Given the description of an element on the screen output the (x, y) to click on. 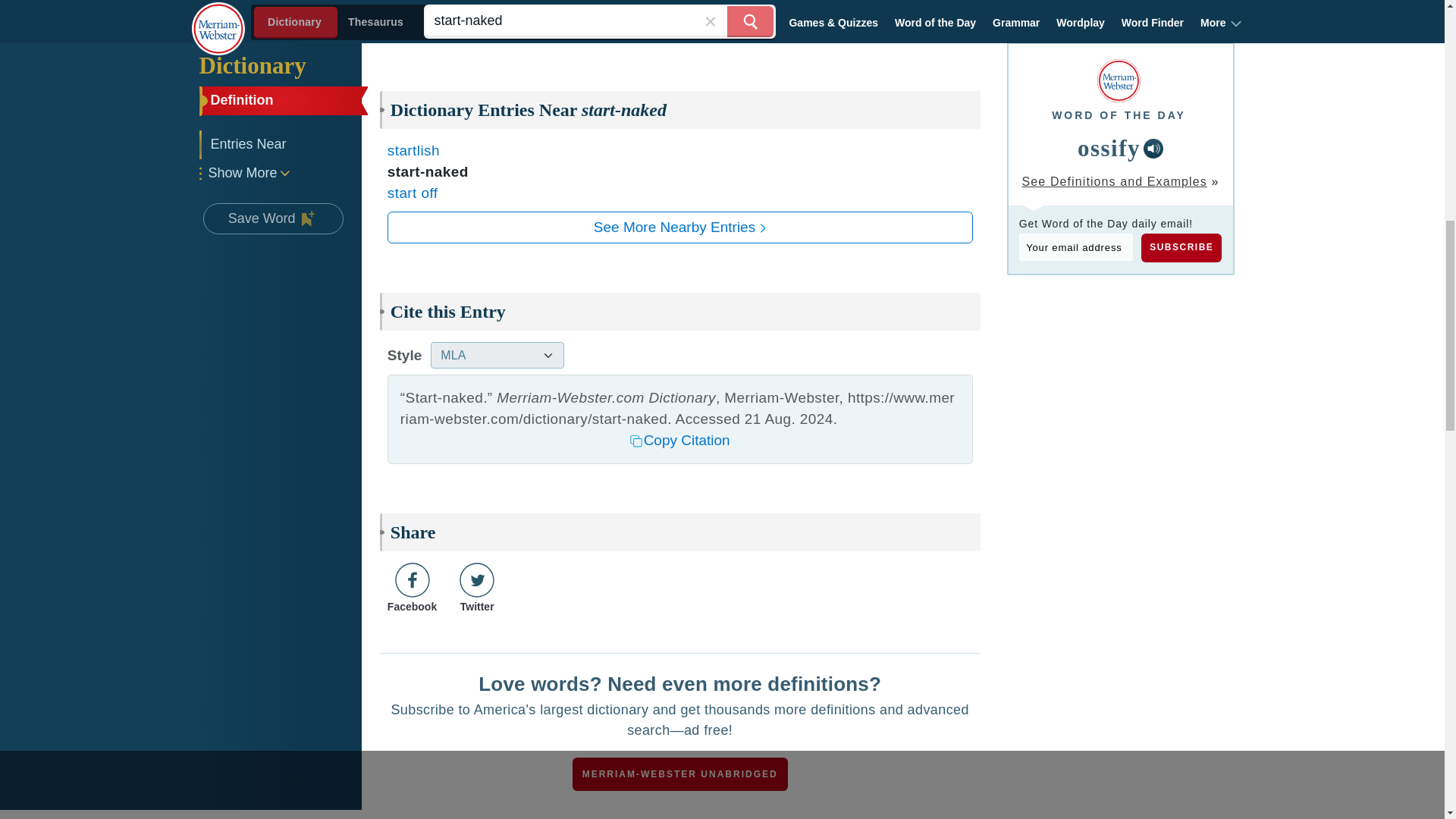
Listen to the pronunciation of ossify (1152, 148)
Merriam Webster (1118, 80)
SUBSCRIBE (1181, 247)
